Given the description of an element on the screen output the (x, y) to click on. 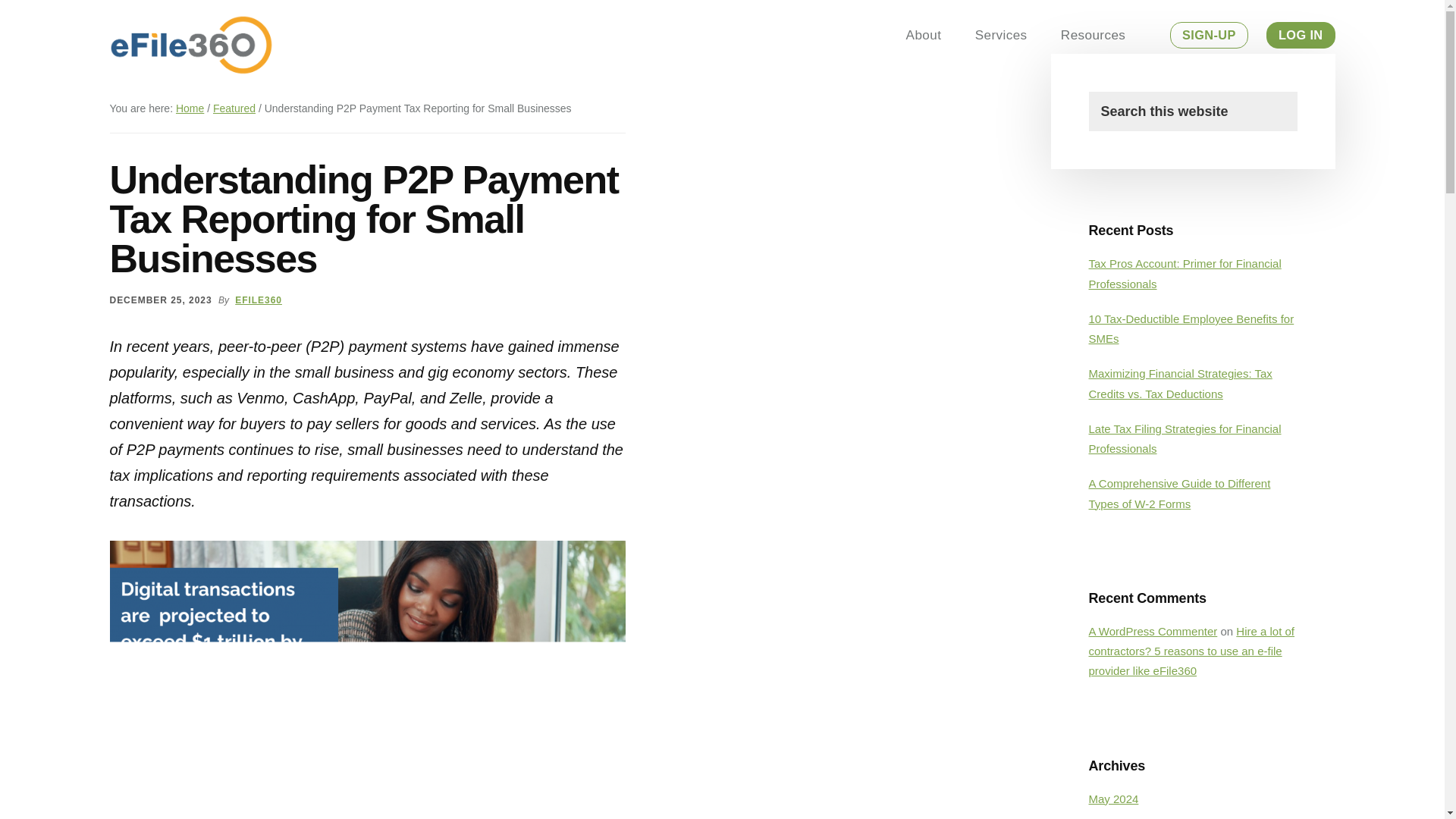
May 2024 (1113, 798)
Featured (234, 107)
Services (1000, 35)
Home (189, 107)
Tax Pros Account: Primer for Financial Professionals (1185, 273)
About (923, 35)
A WordPress Commenter (1153, 631)
EFILE360 (258, 299)
10 Tax-Deductible Employee Benefits for SMEs (1191, 328)
Resources (1092, 35)
SIGN-UP (1208, 35)
